Given the description of an element on the screen output the (x, y) to click on. 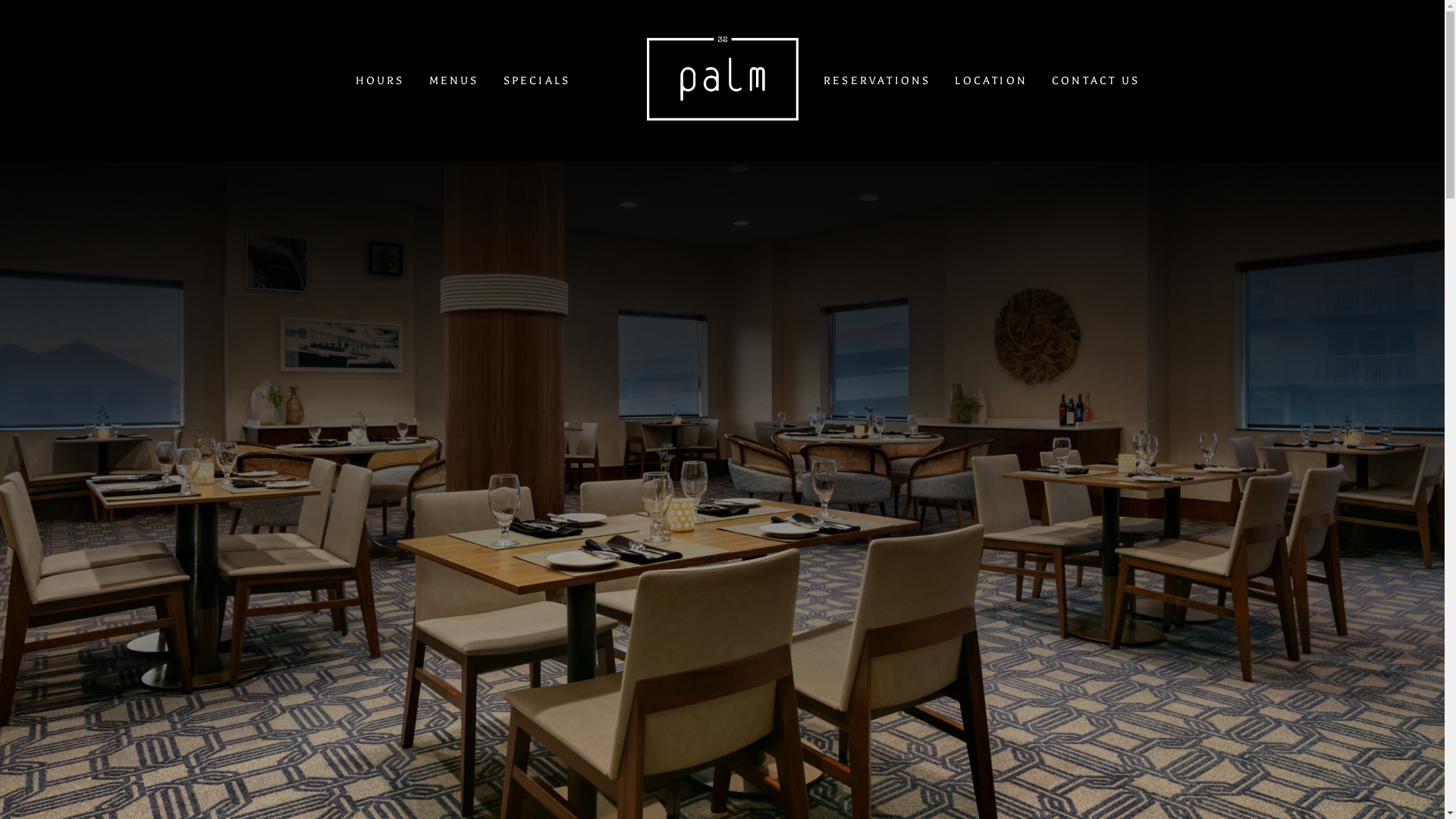
SPECIALS Element type: text (537, 80)
HOURS Element type: text (379, 80)
LOCATION Element type: text (990, 80)
RESERVATIONS Element type: text (876, 80)
CONTACT US Element type: text (1095, 80)
MENUS Element type: text (454, 80)
